Given the description of an element on the screen output the (x, y) to click on. 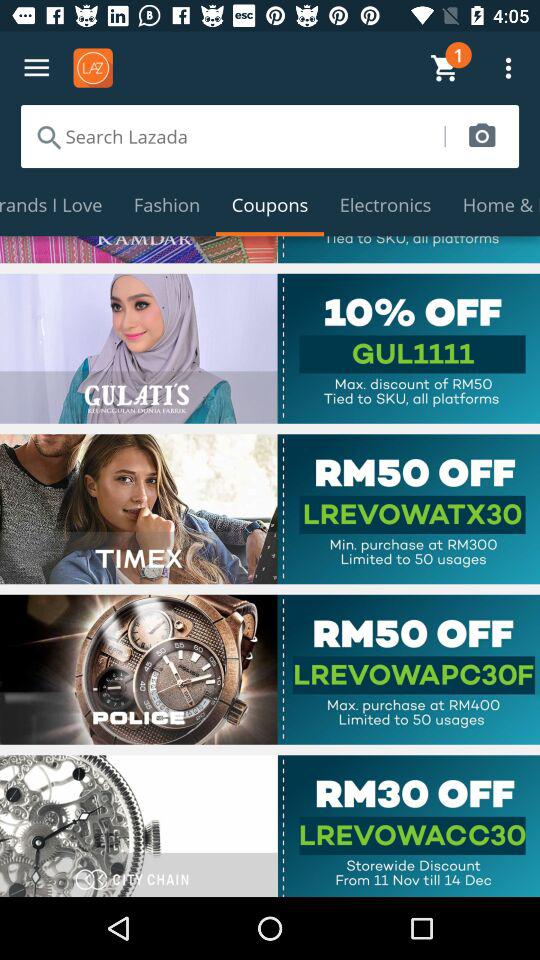
open more options (36, 68)
